Given the description of an element on the screen output the (x, y) to click on. 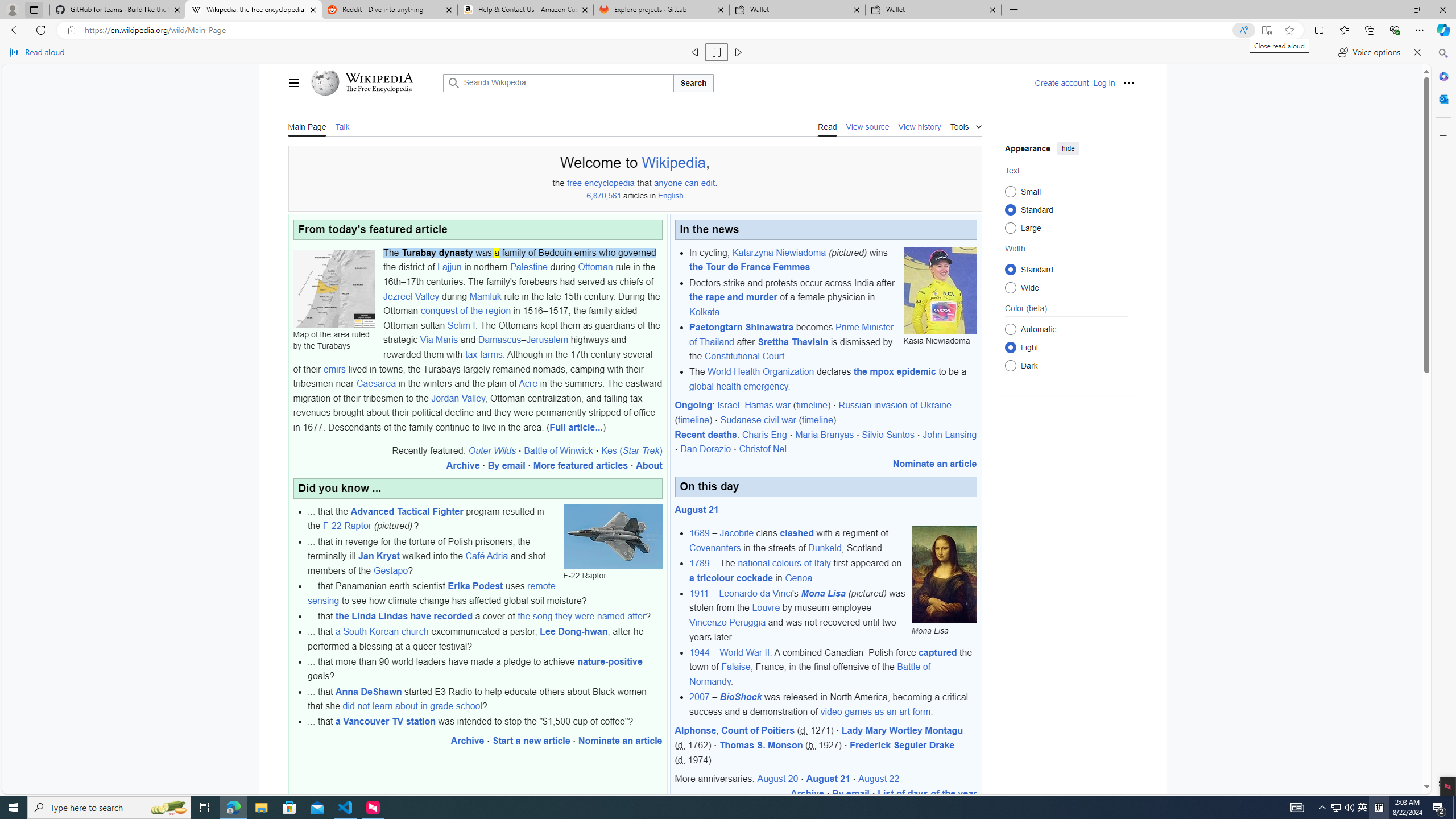
Ongoing (692, 405)
Nominate an article (934, 463)
List of days of the year (926, 792)
hide (1067, 147)
Outer Wilds (491, 450)
did not learn about in grade school (411, 706)
List of days of the year (926, 792)
Sudanese civil war (timeline) (778, 420)
Voice options (1369, 52)
Large (1010, 227)
1789 (699, 563)
Maria Branyas (824, 434)
Jordan Valley (457, 397)
